Given the description of an element on the screen output the (x, y) to click on. 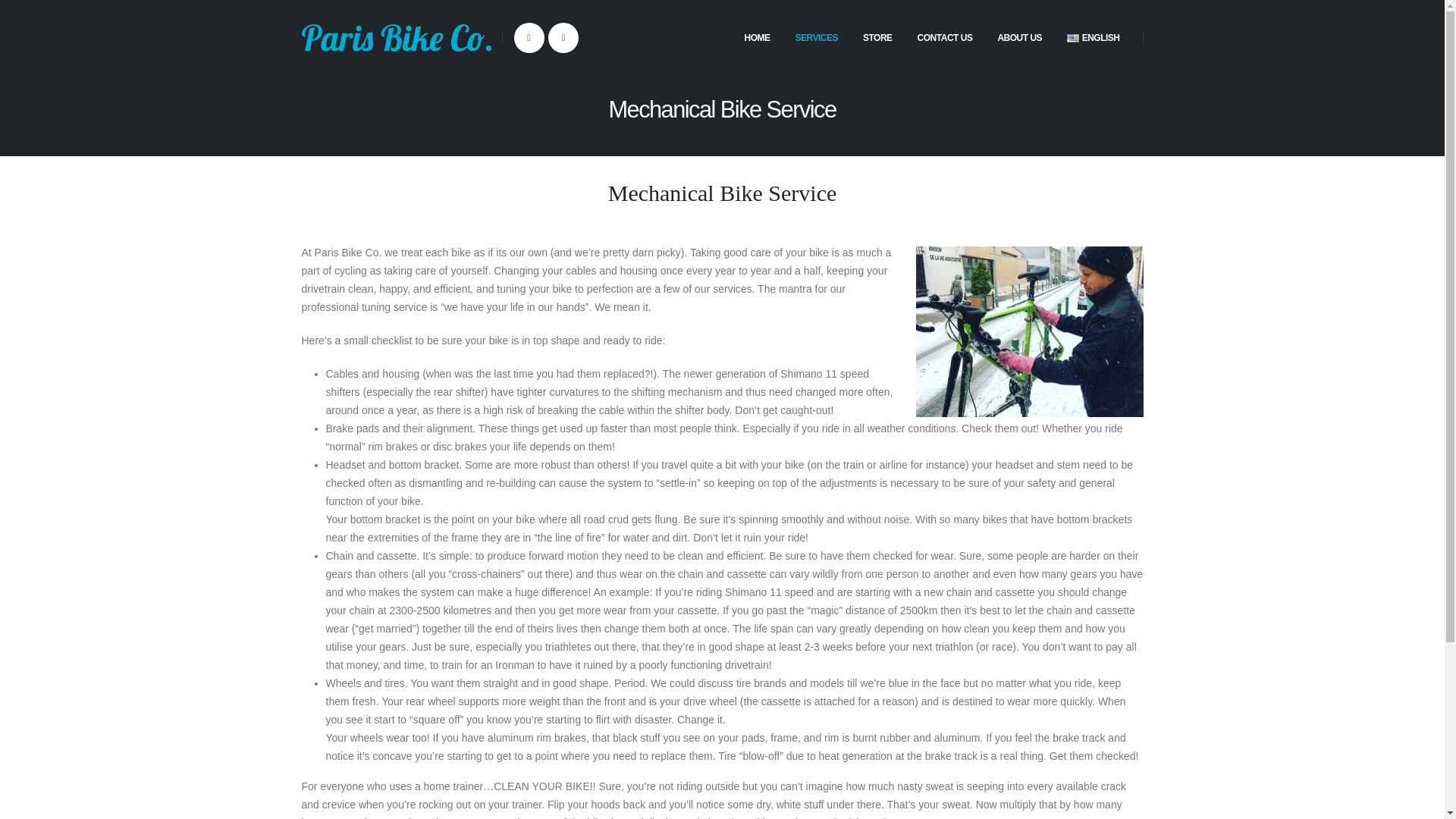
Paris Bike Company - Your Bicycle Needs in France (396, 37)
ENGLISH (1092, 38)
Facebook (528, 37)
Instagram (563, 37)
CONTACT US (945, 38)
ABOUT US (1019, 38)
